Given the description of an element on the screen output the (x, y) to click on. 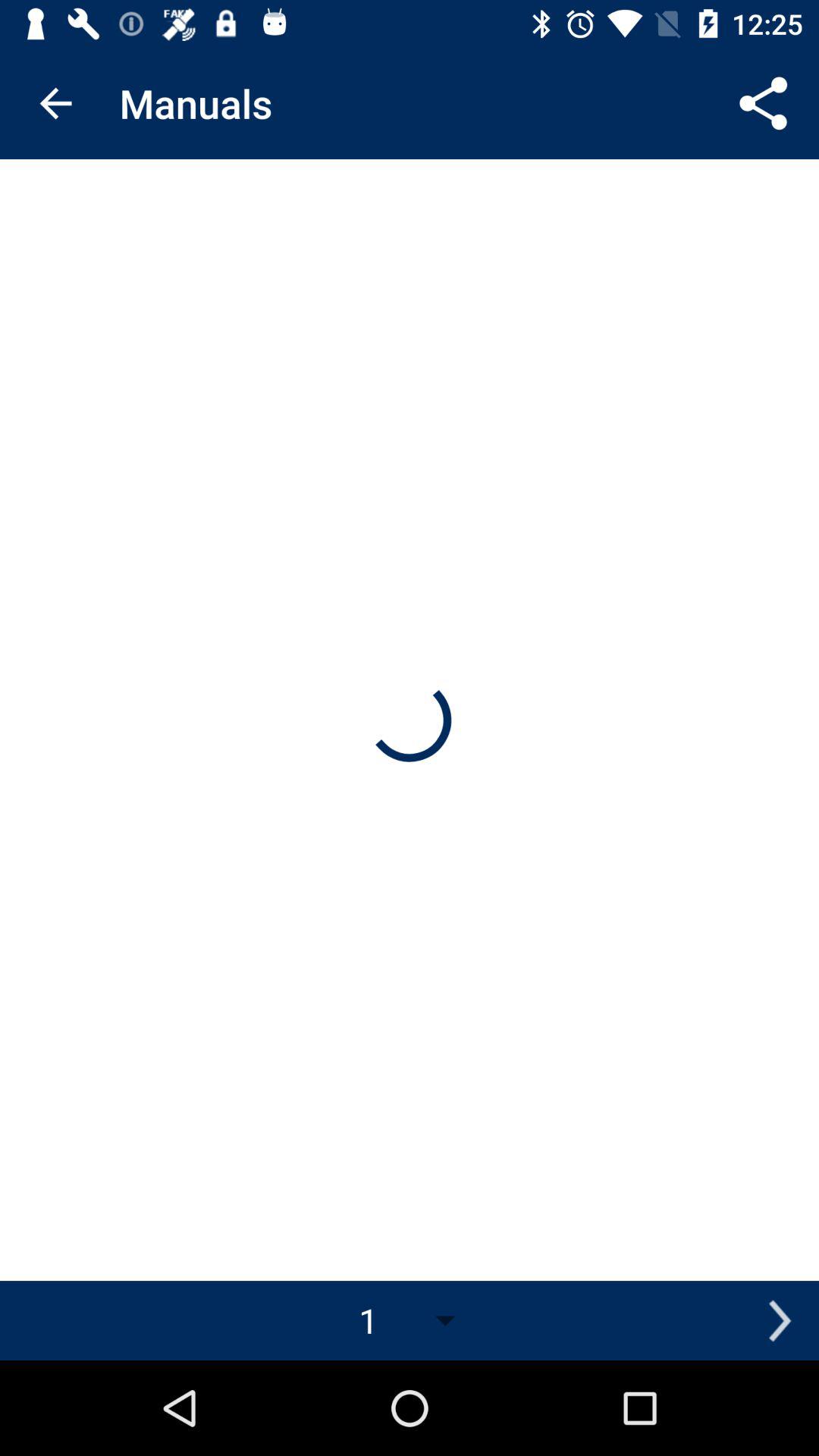
skip ahead (779, 1320)
